Given the description of an element on the screen output the (x, y) to click on. 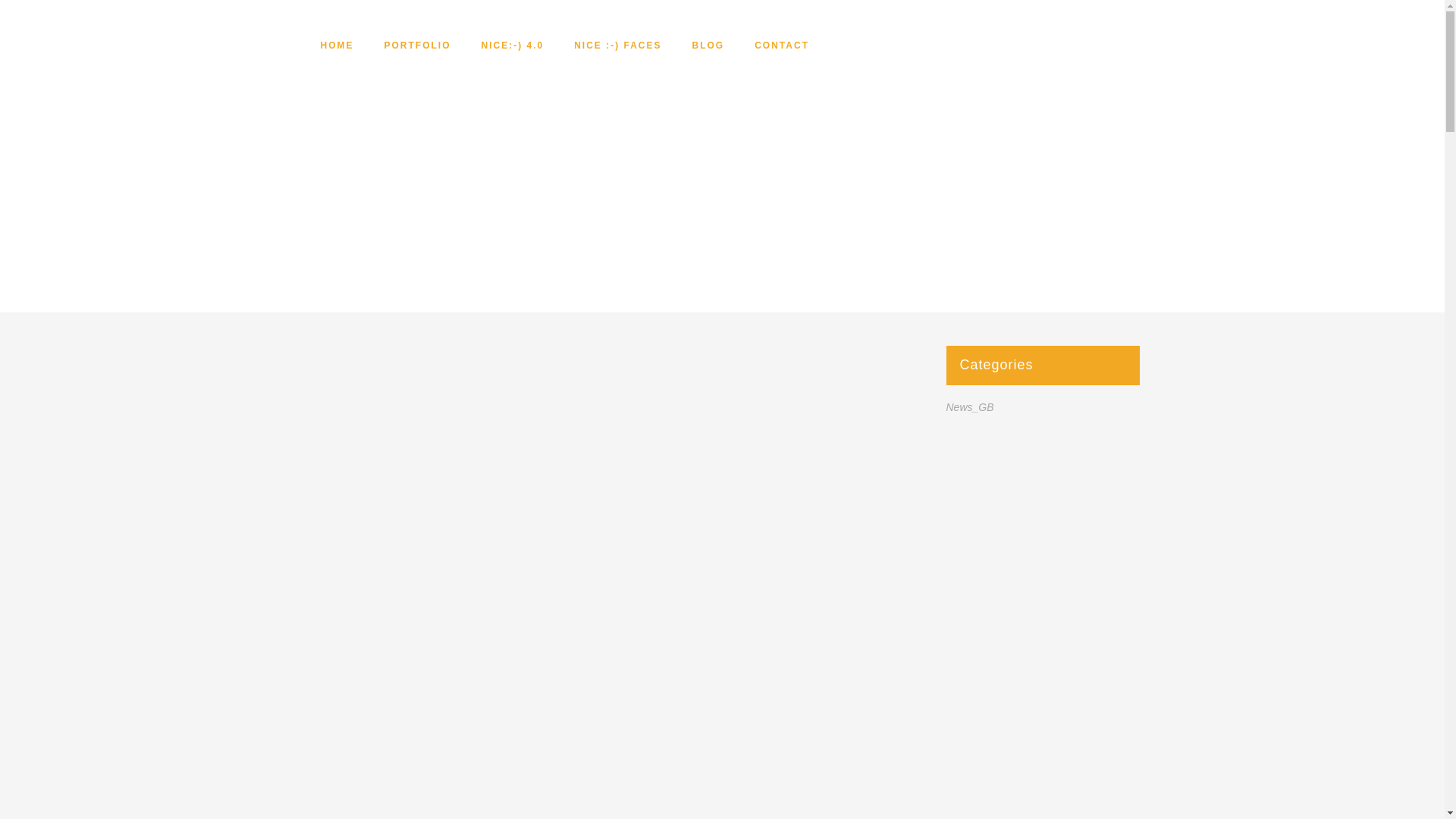
BLOG (708, 45)
HOME (336, 45)
CONTACT (781, 45)
PORTFOLIO (416, 45)
